Given the description of an element on the screen output the (x, y) to click on. 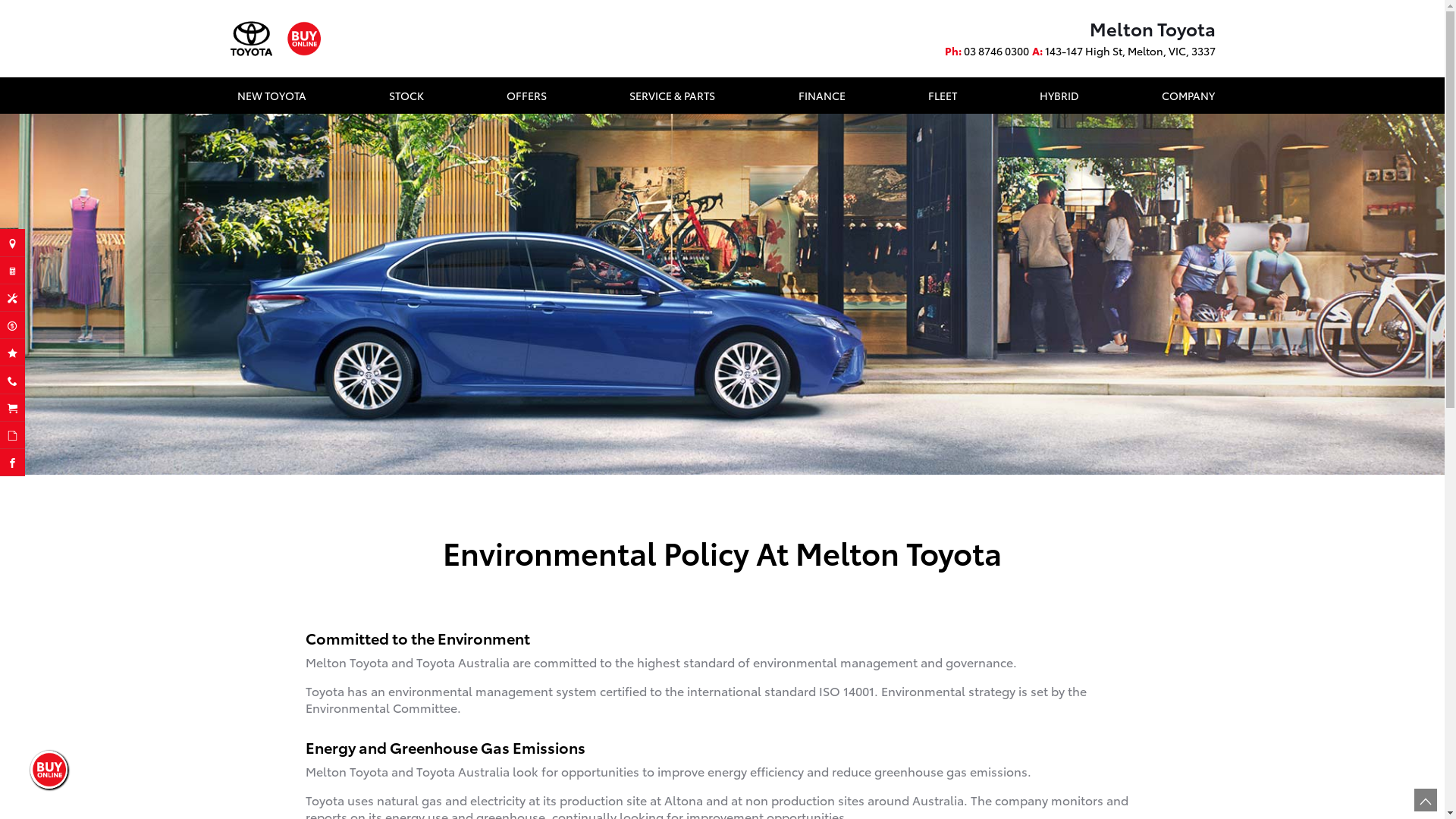
FINANCE Element type: text (821, 95)
A: 143-147 High St, Melton, VIC, 3337 Element type: text (1122, 50)
OFFERS Element type: text (526, 95)
HYBRID Element type: text (1059, 95)
COMPANY Element type: text (1184, 95)
SERVICE & PARTS Element type: text (671, 95)
STOCK Element type: text (406, 95)
NEW TOYOTA Element type: text (271, 95)
FLEET Element type: text (942, 95)
Ph: 03 8746 0300 Element type: text (986, 50)
